Given the description of an element on the screen output the (x, y) to click on. 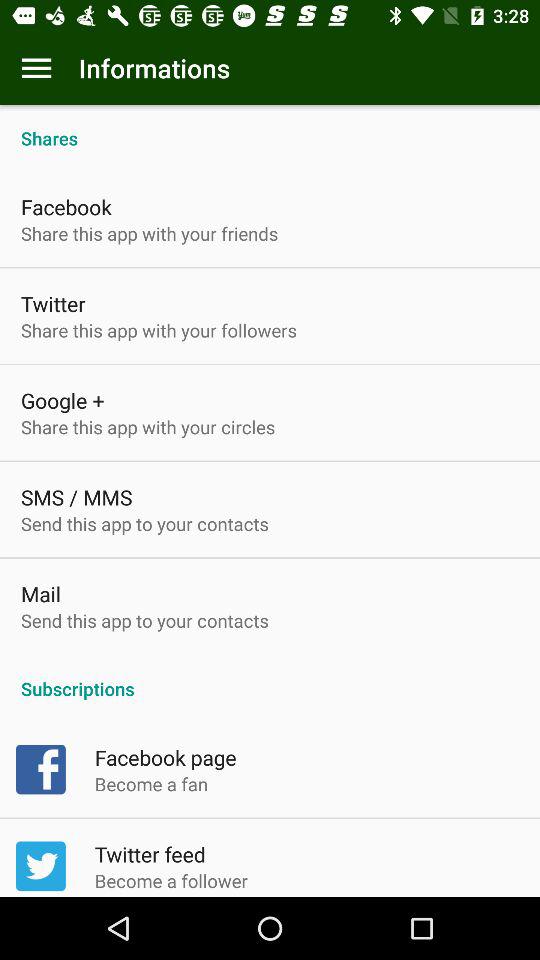
swipe to subscriptions icon (270, 678)
